Given the description of an element on the screen output the (x, y) to click on. 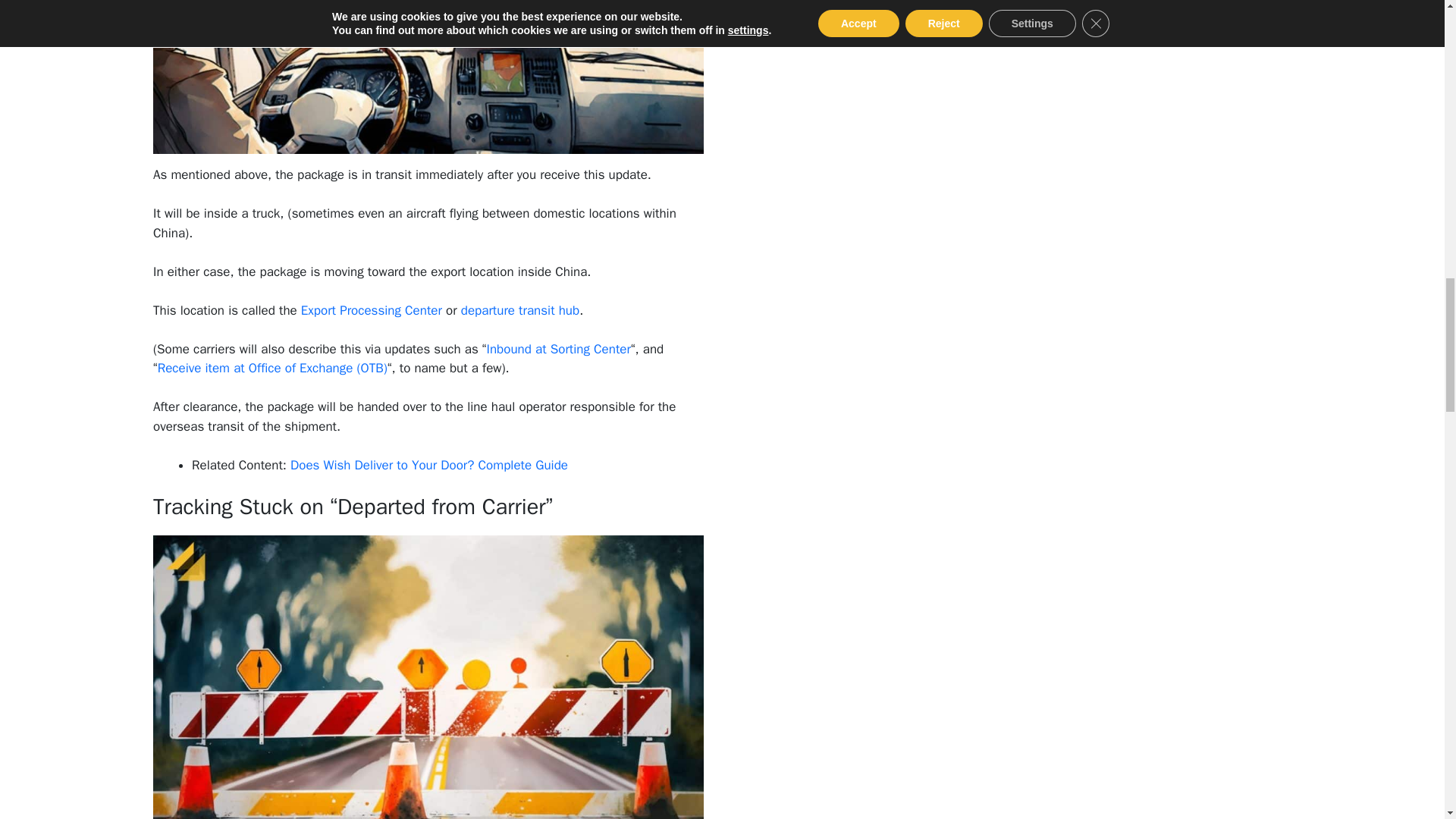
Does Wish Deliver to Your Door? Complete Guide (428, 465)
Export Processing Center (371, 310)
departure transit hub (520, 310)
Inbound at Sorting Center (558, 349)
